Given the description of an element on the screen output the (x, y) to click on. 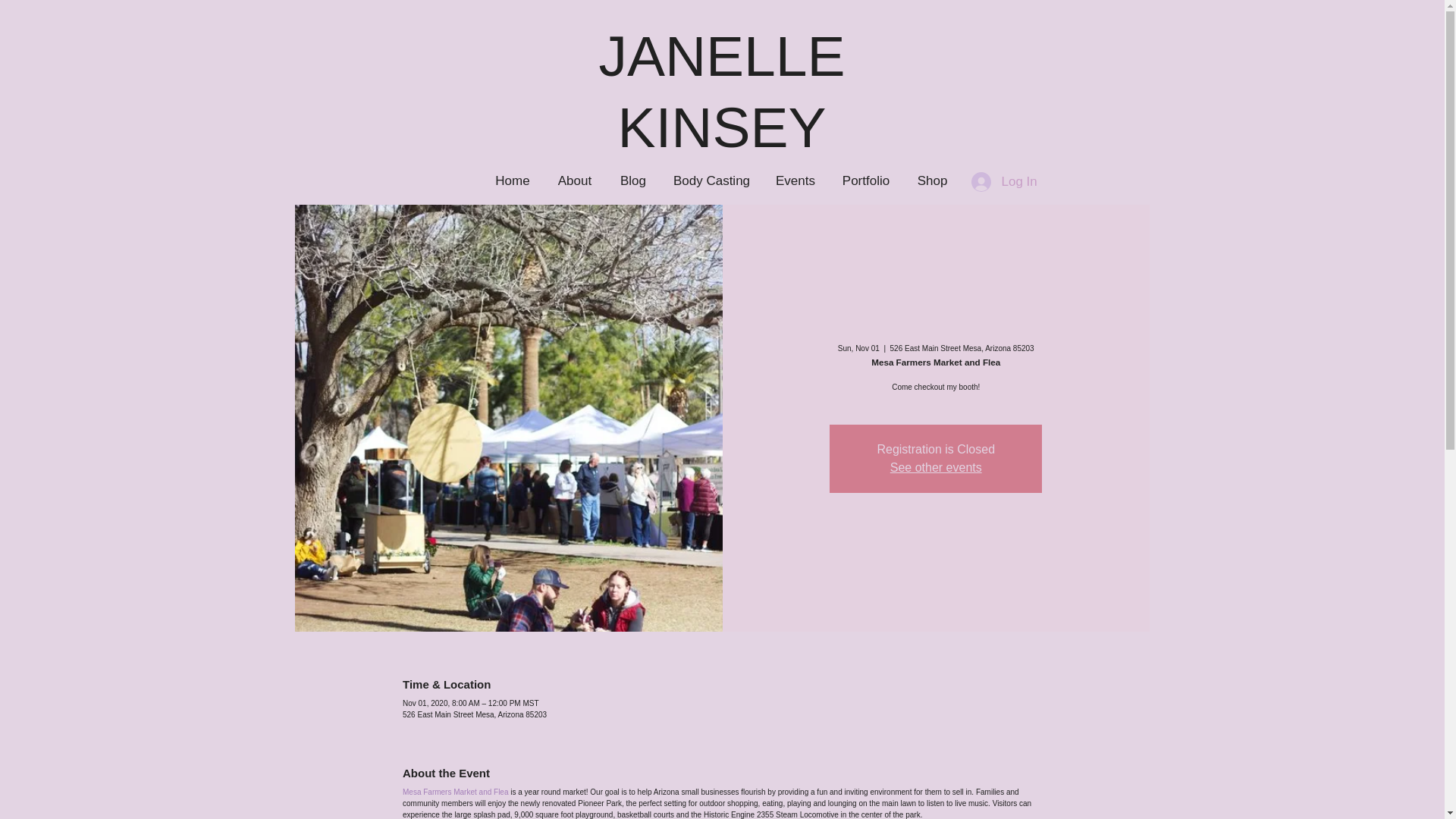
See other events (935, 467)
Portfolio (866, 180)
Home (512, 180)
About (574, 180)
Log In (986, 181)
Mesa Farmers Market and Flea (455, 791)
JANELLE KINSEY (721, 91)
Blog (634, 180)
Shop (931, 180)
Body Casting (710, 180)
Events (794, 180)
